Given the description of an element on the screen output the (x, y) to click on. 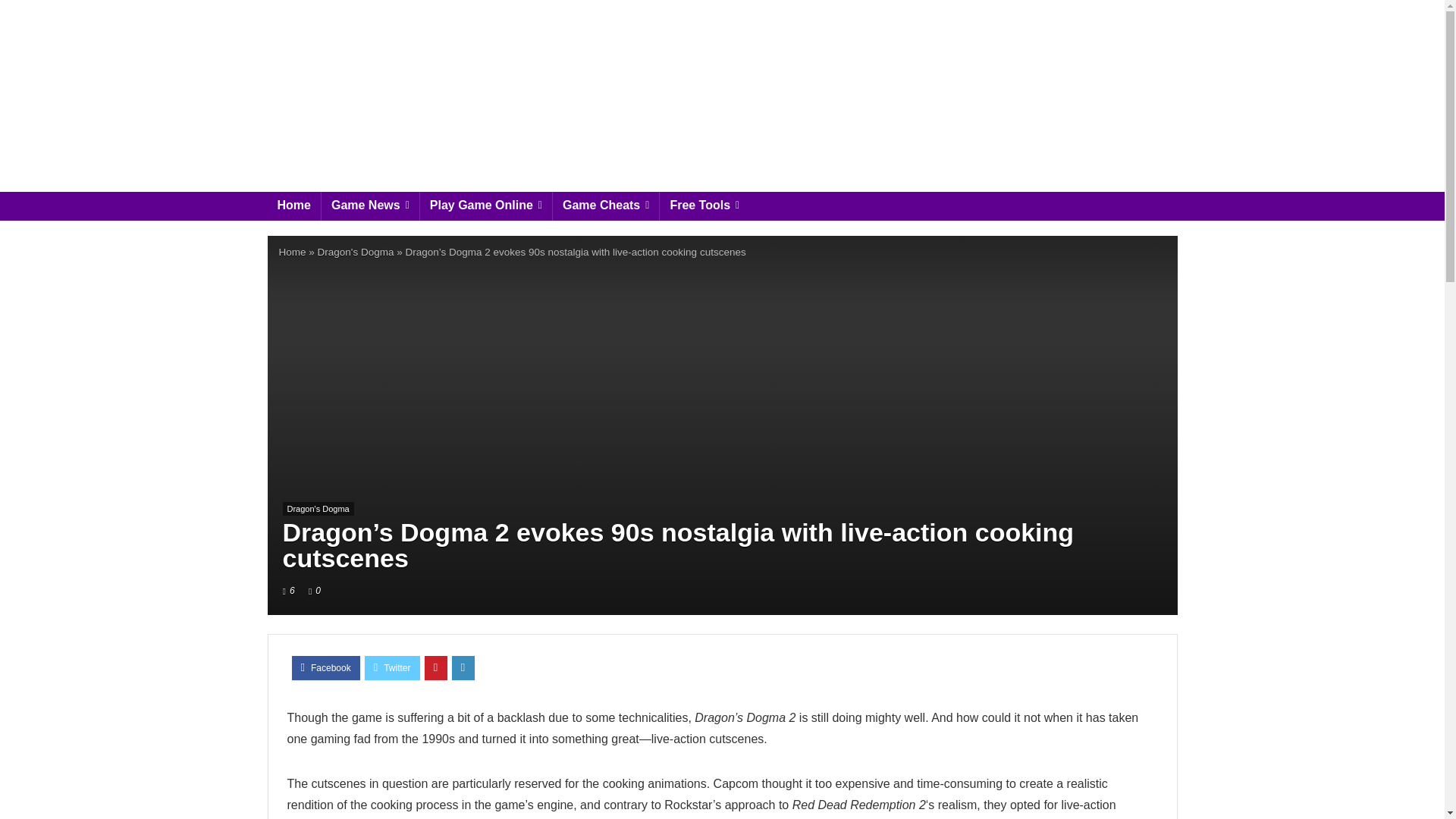
Home (293, 205)
Play Game Online (485, 205)
Free Tools (704, 205)
Game Cheats (606, 205)
Game News (370, 205)
View all posts in Dragon's Dogma (317, 508)
